Given the description of an element on the screen output the (x, y) to click on. 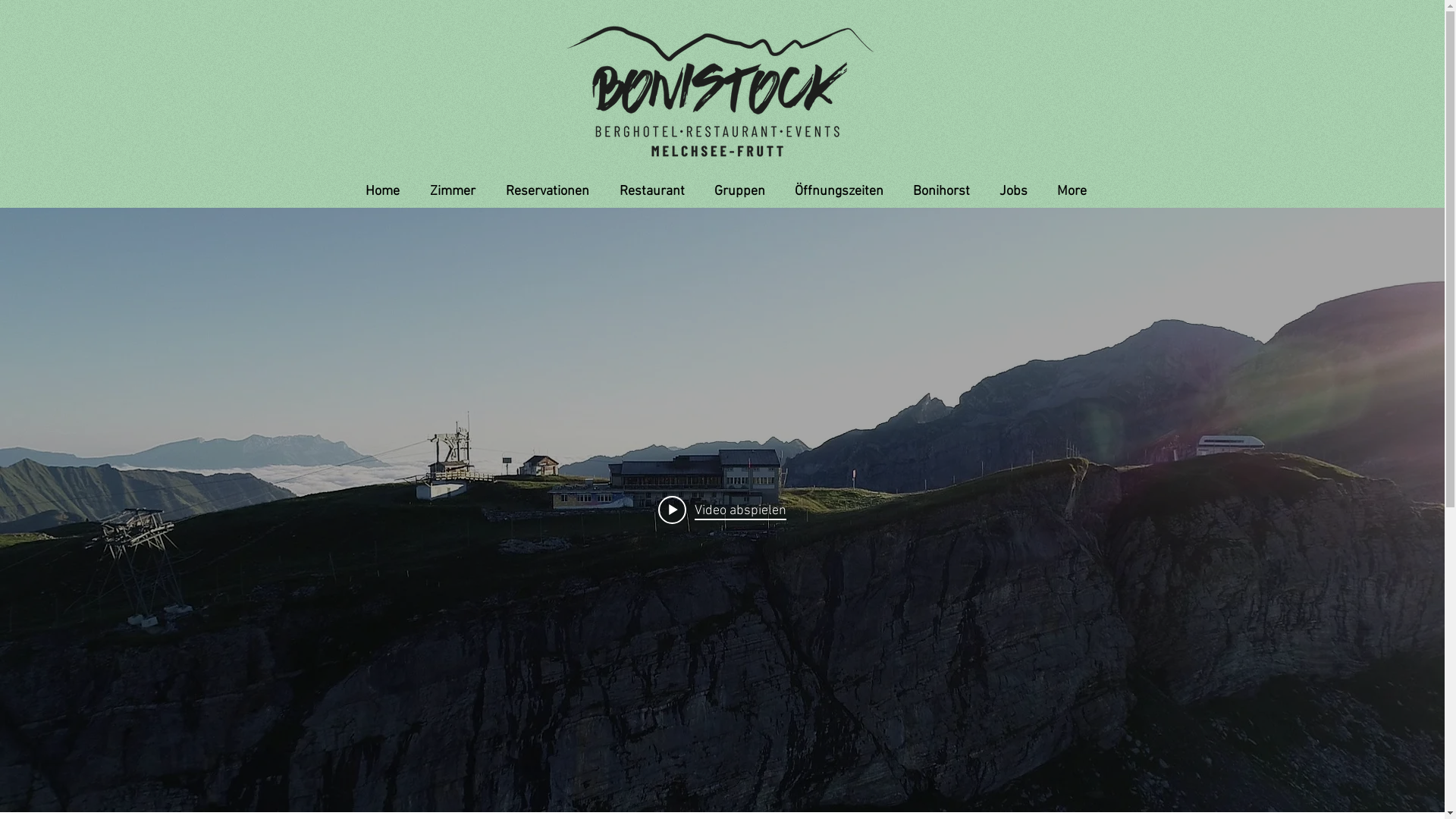
Gruppen Element type: text (736, 191)
Home Element type: text (377, 191)
Video abspielen Element type: text (722, 509)
Bonihorst Element type: text (937, 191)
Logo-Bonistock-black.png Element type: hover (721, 89)
Restaurant Element type: text (648, 191)
Reservationen Element type: text (543, 191)
Zimmer Element type: text (448, 191)
Jobs Element type: text (1009, 191)
